Given the description of an element on the screen output the (x, y) to click on. 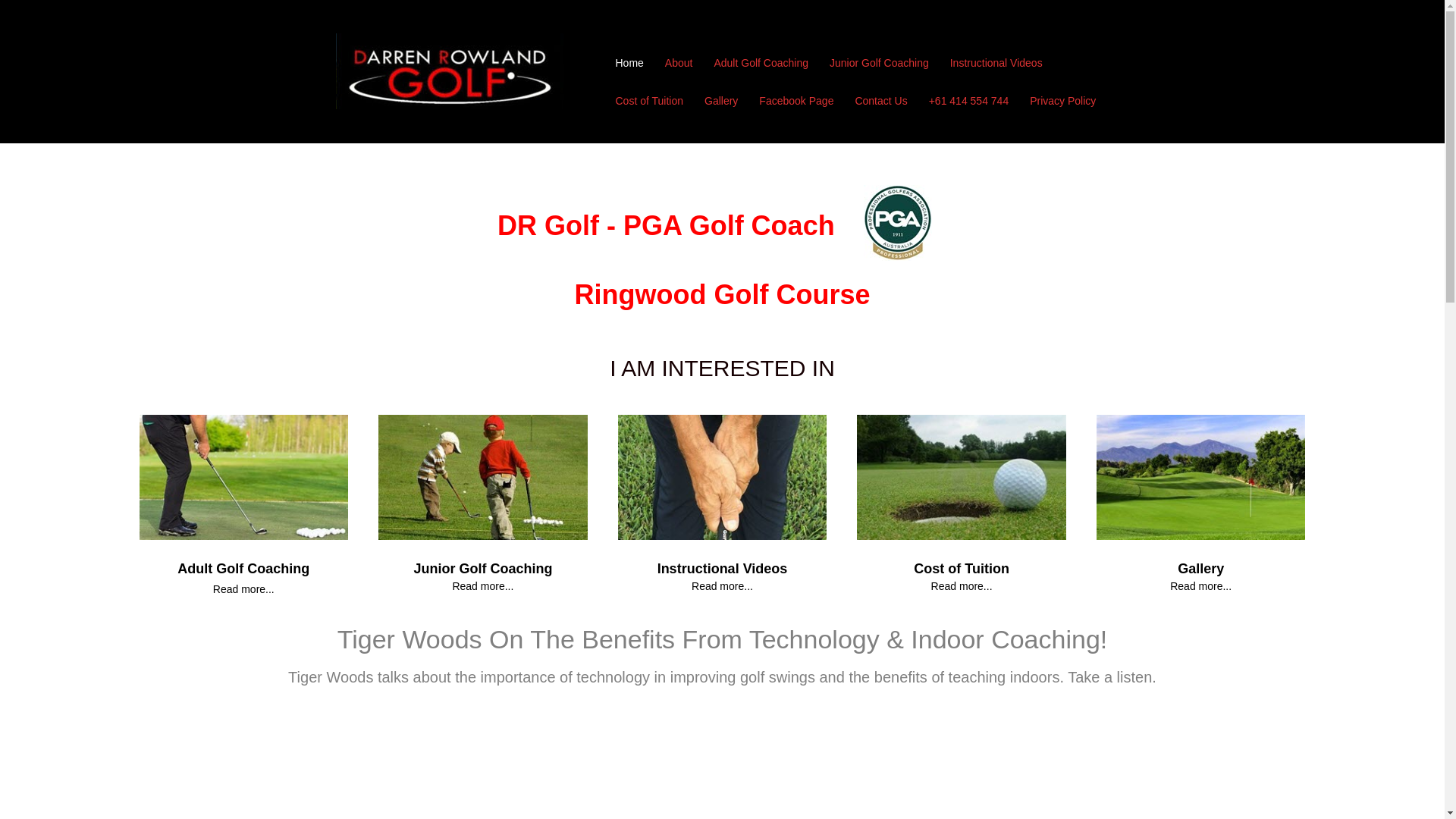
Adult Golf Coaching
Read more... Element type: text (243, 579)
Gallery Element type: text (1200, 569)
Junior Golf Coaching
Read more... Element type: text (482, 577)
adult h Element type: hover (243, 477)
gallery h Element type: hover (1200, 477)
Gallery Element type: text (720, 101)
Cost of Tuition Element type: text (649, 101)
Home Element type: text (629, 63)
Instructional Videos Element type: text (996, 63)
Facebook Page Element type: text (796, 101)
Contact Us Element type: text (880, 101)
cost of tuition h Element type: hover (961, 477)
Privacy Policy Element type: text (1062, 101)
Junior Golf Coaching Element type: text (879, 63)
Instructional Videos Element type: text (722, 569)
Cost of Tuition Element type: text (961, 569)
About Element type: text (678, 63)
Adult Golf Coaching Element type: text (760, 63)
junior home Element type: hover (482, 477)
+61 414 554 744 Element type: text (968, 101)
instructional videos h Element type: hover (722, 477)
